Given the description of an element on the screen output the (x, y) to click on. 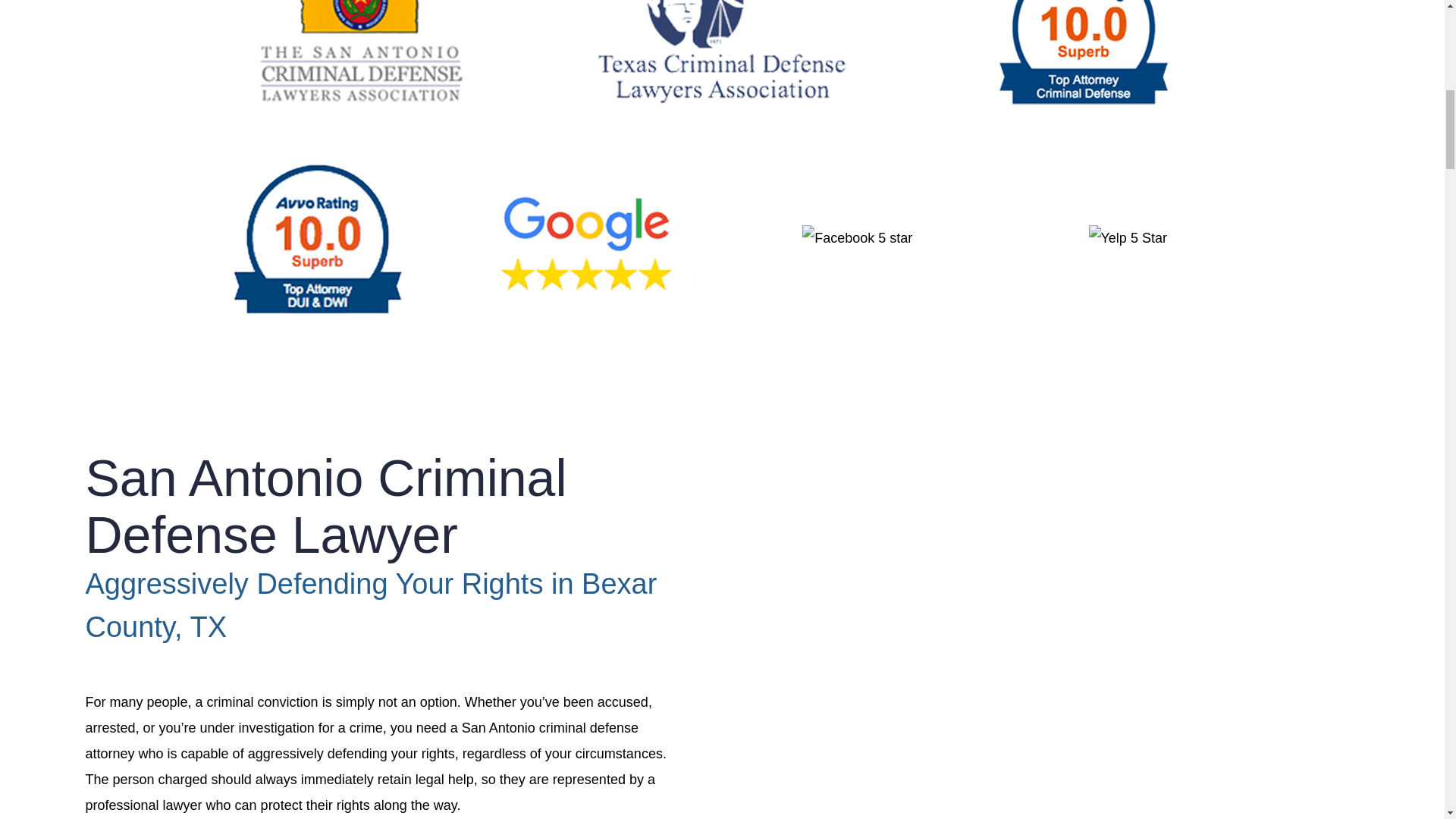
Texas Criminal Defense Lawyers Association (721, 52)
Yelp 5 Star (1128, 237)
Google 5 star (587, 238)
AVVO 10.0 - Criminal (1083, 52)
San Antonio Criminal Defense Lawyers Association (361, 51)
Facebook 5 star (857, 237)
